Given the description of an element on the screen output the (x, y) to click on. 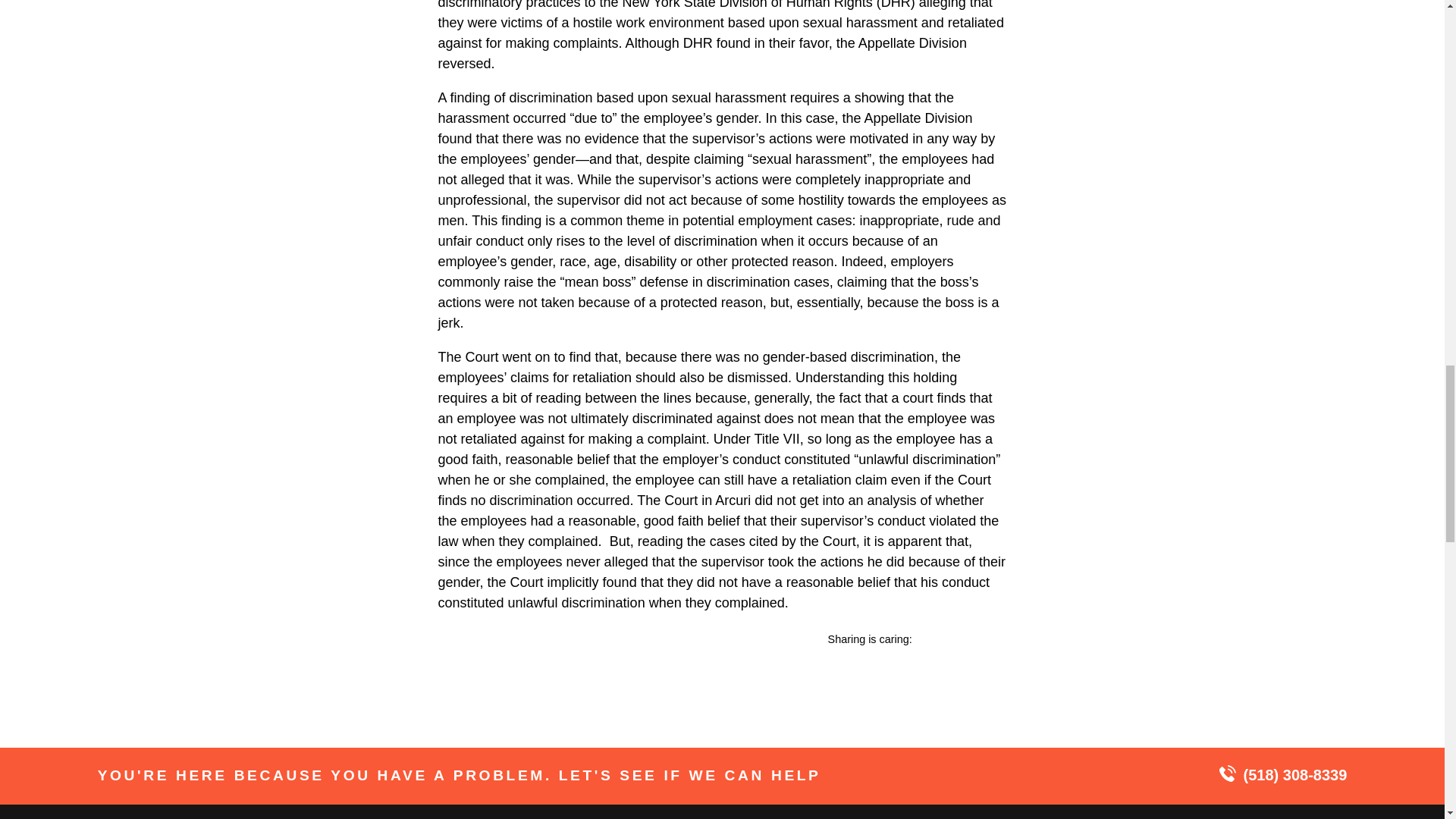
Share on Facebook (930, 639)
Share on LinkedIn (994, 639)
Share on Twitter (962, 639)
